Given the description of an element on the screen output the (x, y) to click on. 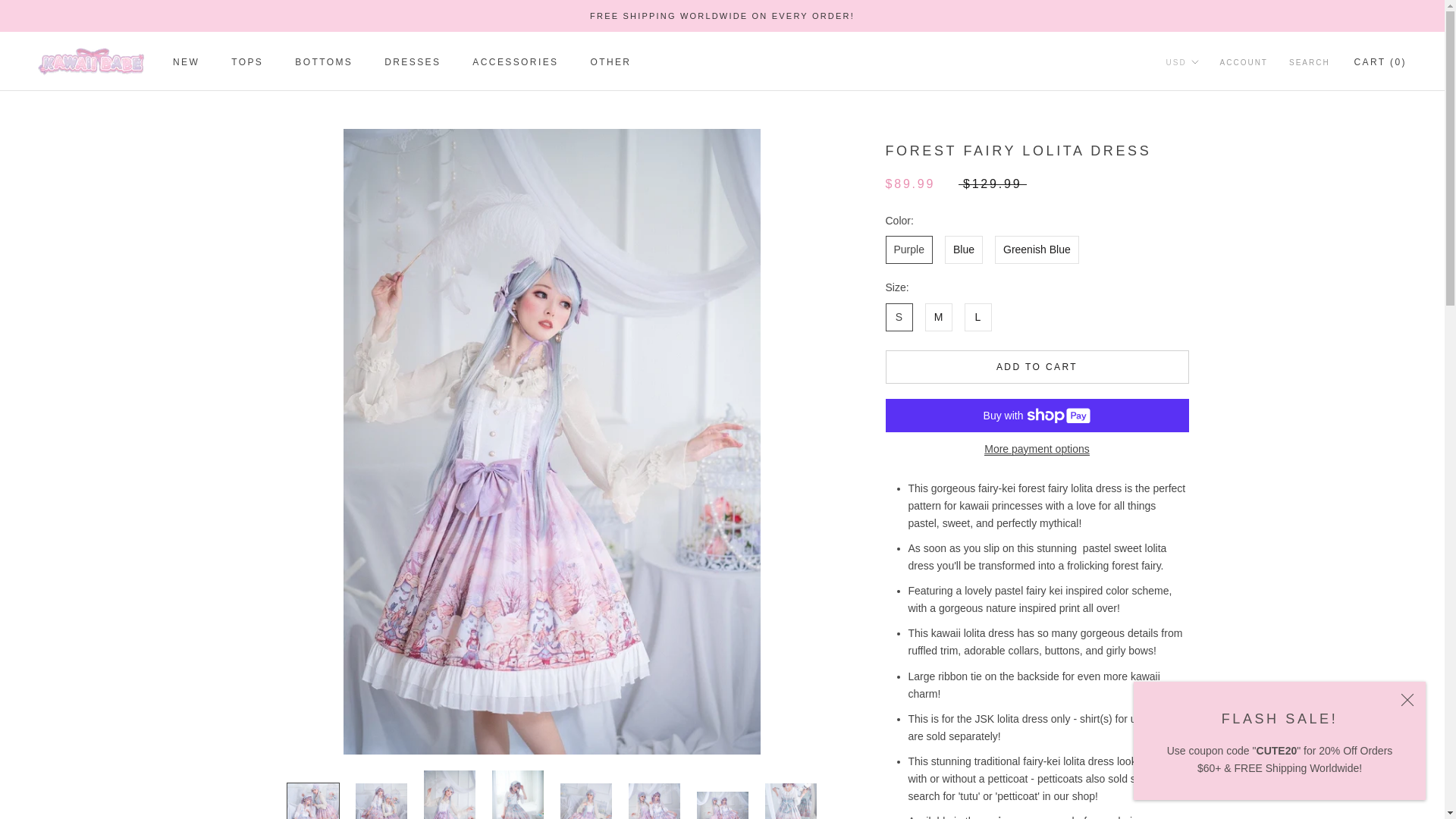
Currency selector (1182, 62)
